Given the description of an element on the screen output the (x, y) to click on. 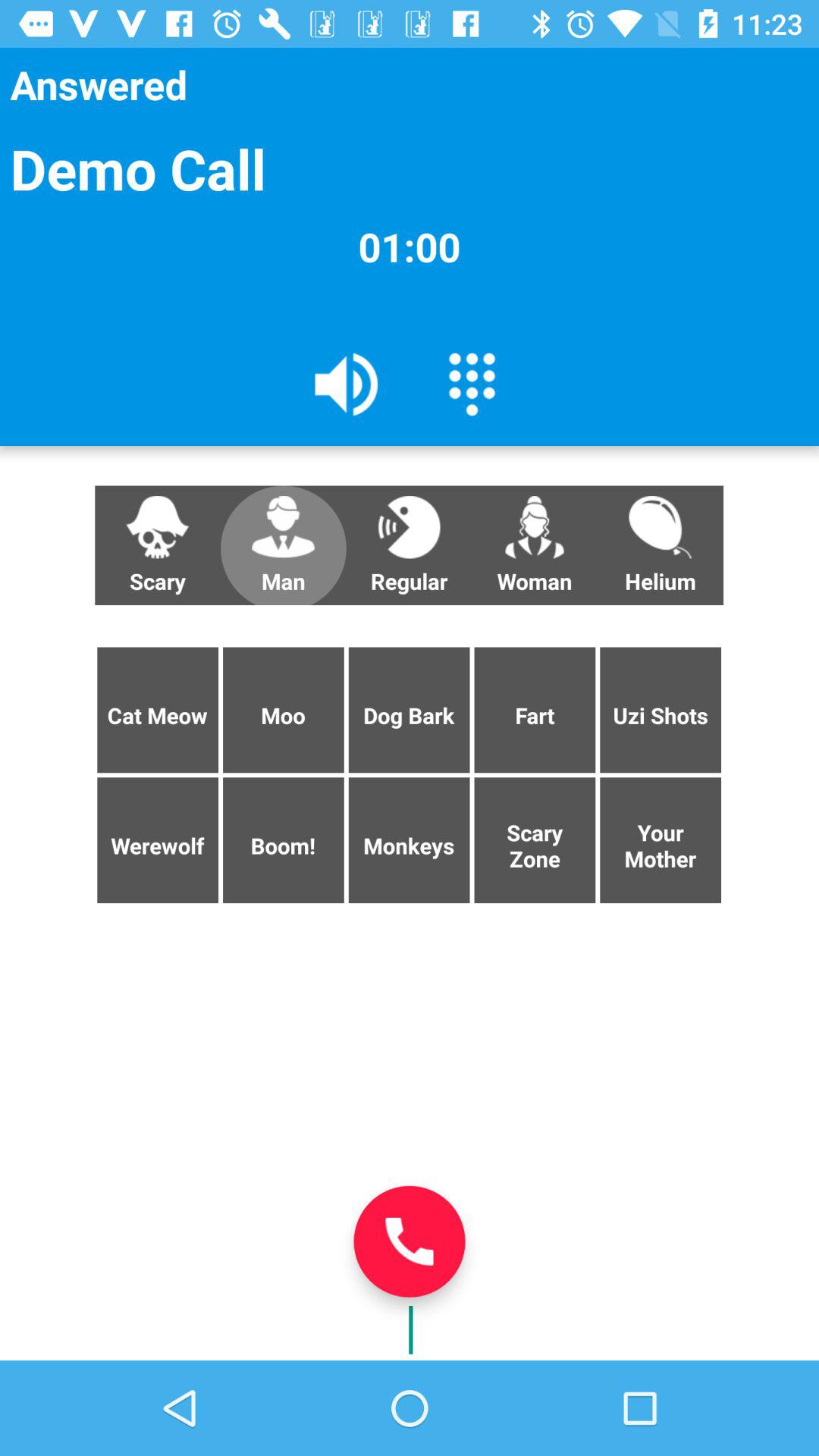
turn on the icon below 01:00 icon (346, 382)
